Given the description of an element on the screen output the (x, y) to click on. 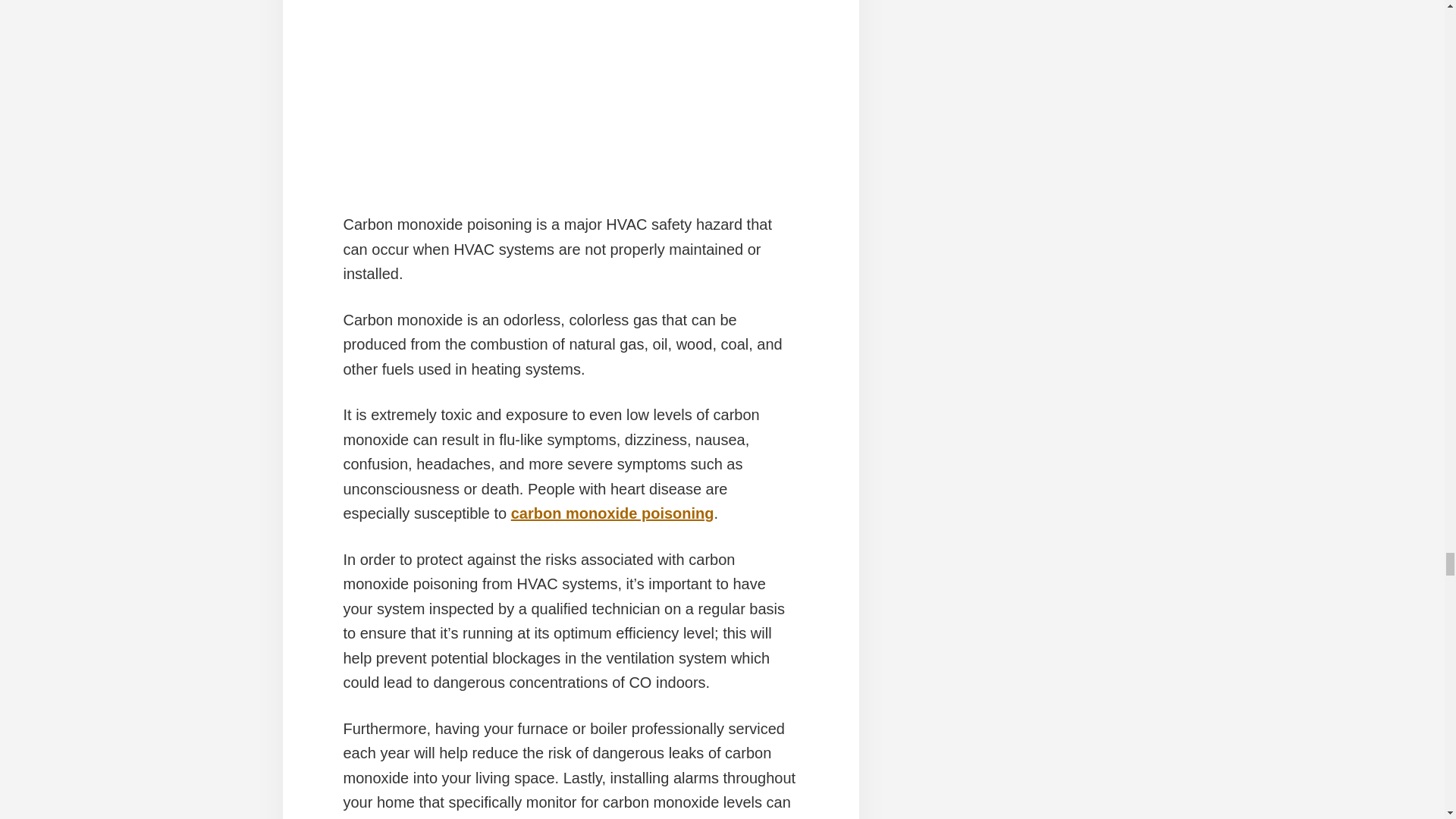
carbon monoxide poisoning (612, 513)
